Given the description of an element on the screen output the (x, y) to click on. 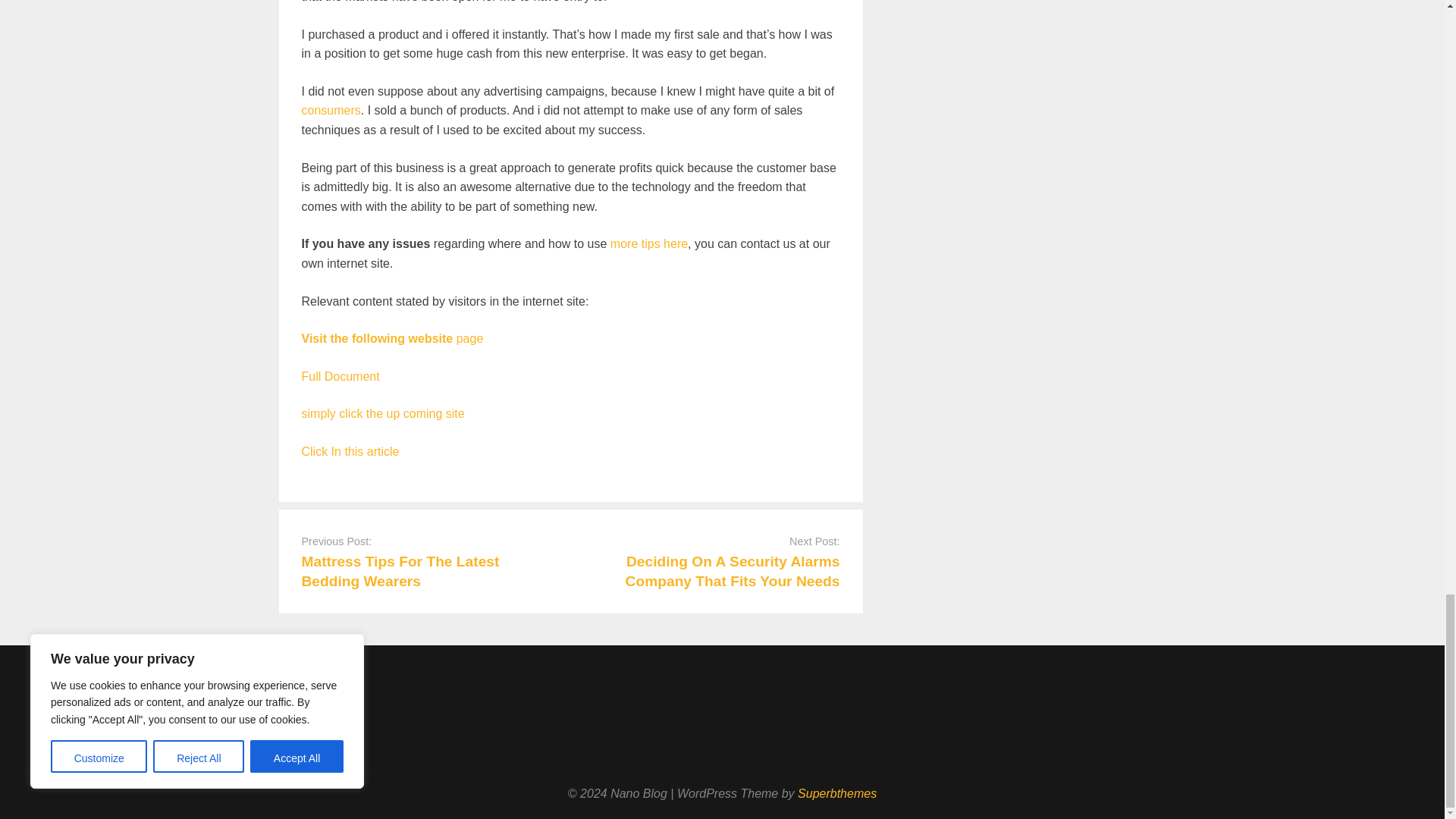
Mattress Tips For The Latest Bedding Wearers (400, 570)
Visit the following website page (392, 338)
consumers (331, 110)
more tips here (648, 243)
Click In this article (349, 451)
Full Document (340, 376)
simply click the up coming site (382, 413)
Deciding On A Security Alarms Company That Fits Your Needs (733, 570)
